Given the description of an element on the screen output the (x, y) to click on. 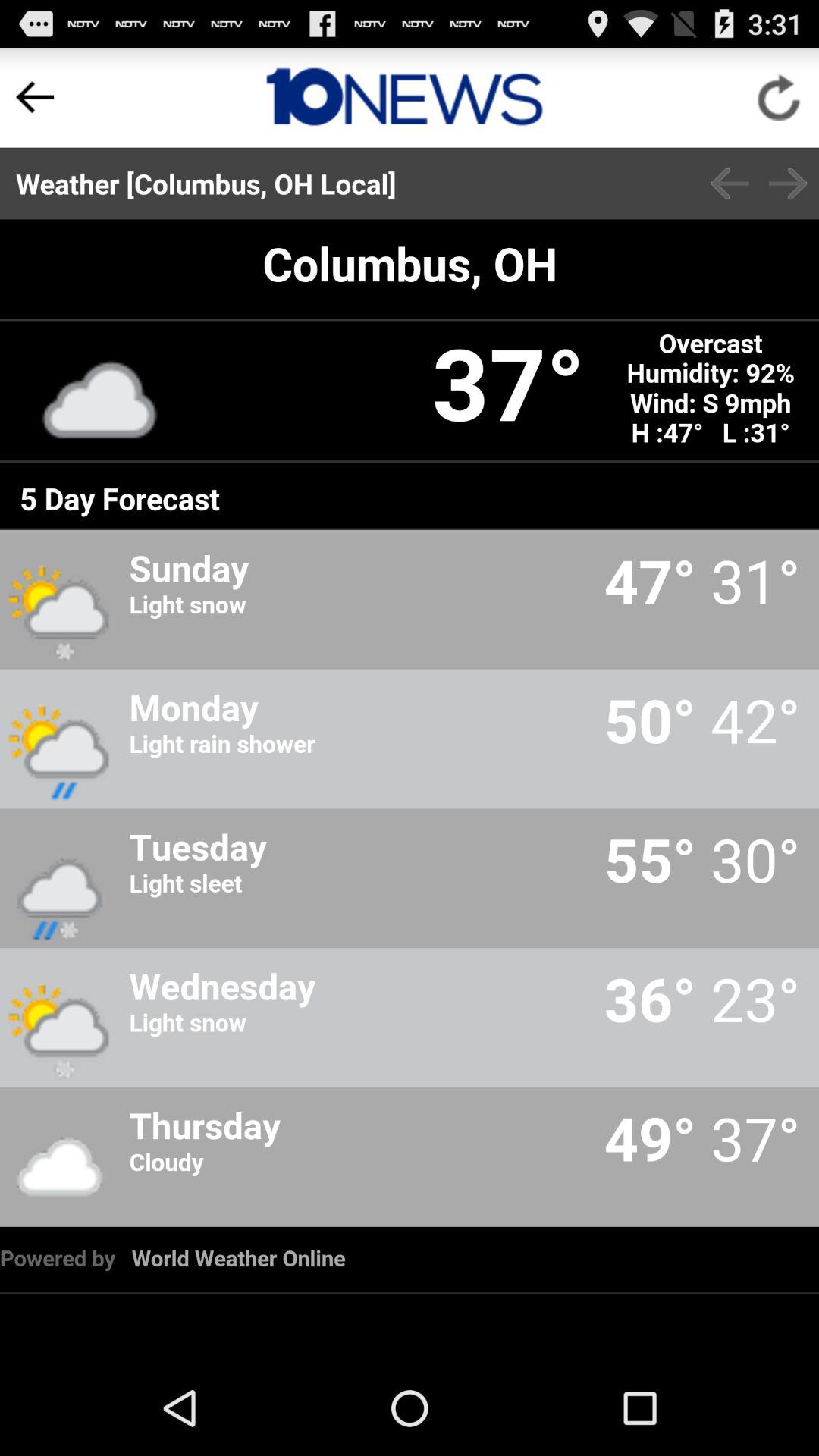
refresh page (779, 97)
